Given the description of an element on the screen output the (x, y) to click on. 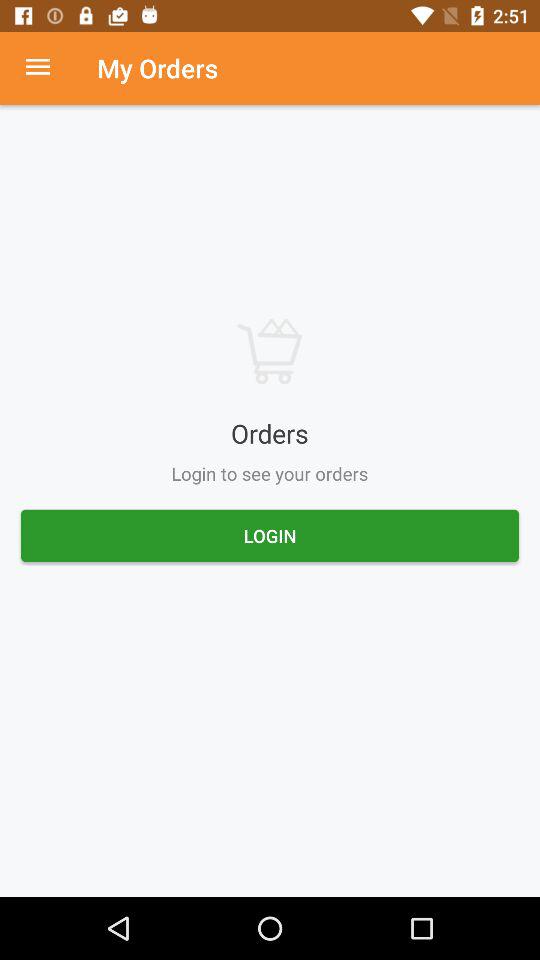
menu option (48, 67)
